Given the description of an element on the screen output the (x, y) to click on. 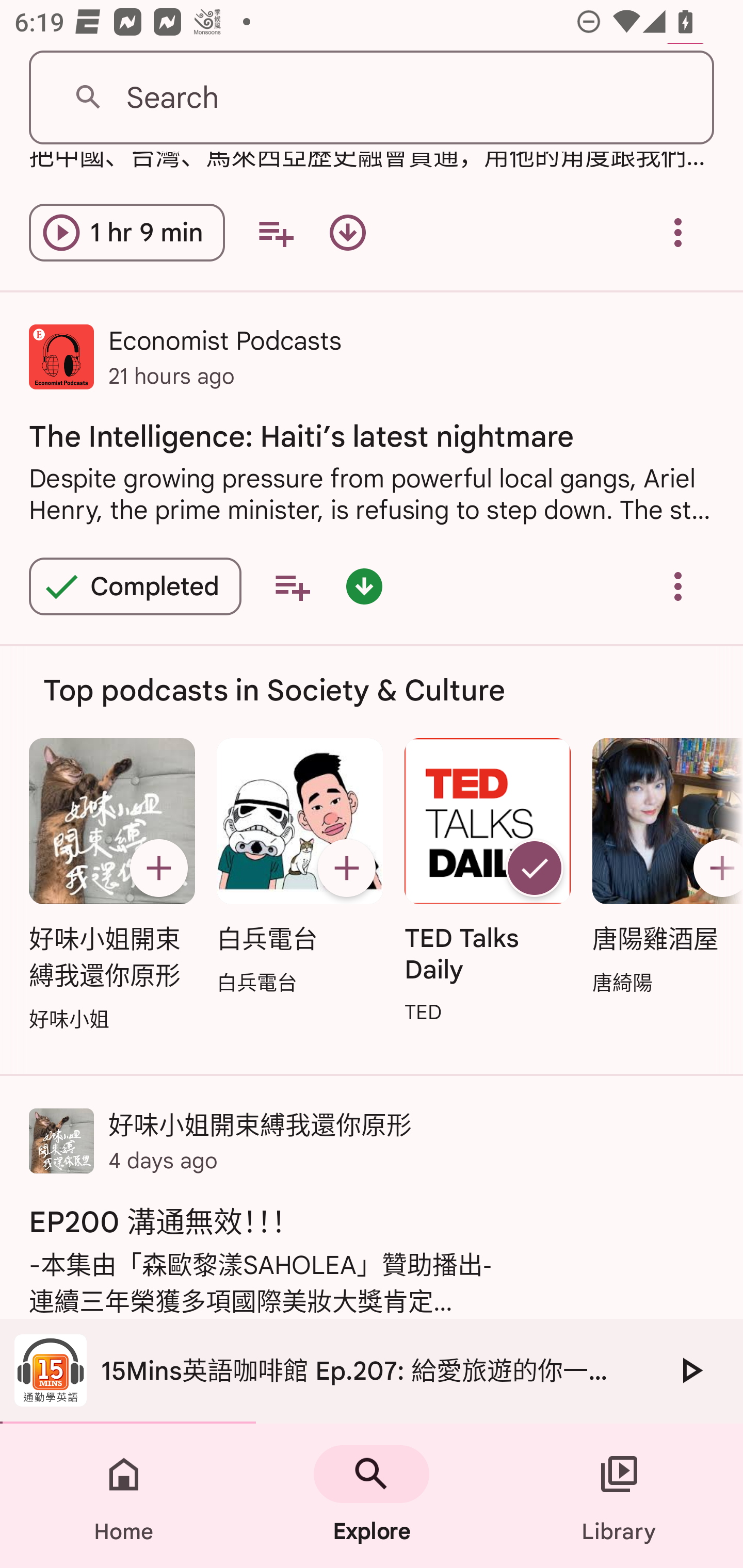
Search (371, 97)
Add to your queue (275, 232)
Download episode (347, 232)
Overflow menu (677, 232)
Add to your queue (291, 586)
Episode downloaded - double tap for options (364, 586)
Overflow menu (677, 586)
好味小姐開束縛我還你原形 Subscribe 好味小姐開束縛我還你原形 好味小姐 (111, 885)
白兵電台 Subscribe 白兵電台 白兵電台 (299, 867)
TED Talks Daily Unsubscribe TED Talks Daily TED (487, 882)
唐陽雞酒屋 Subscribe 唐陽雞酒屋 唐綺陽 (662, 867)
Subscribe (158, 868)
Subscribe (346, 868)
Unsubscribe (534, 868)
Subscribe (714, 868)
Play (690, 1370)
Home (123, 1495)
Library (619, 1495)
